Given the description of an element on the screen output the (x, y) to click on. 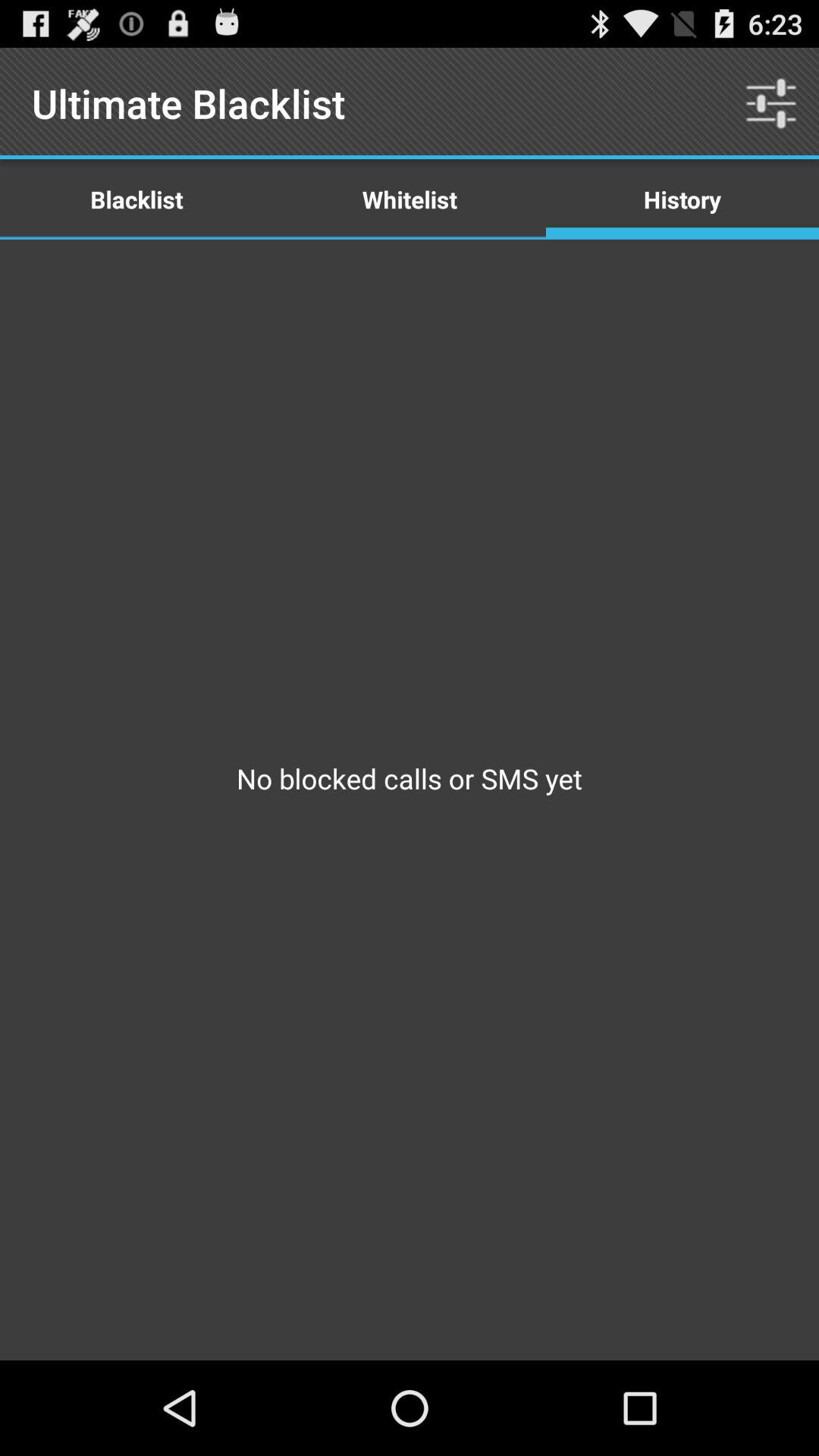
swipe to the history (682, 199)
